Given the description of an element on the screen output the (x, y) to click on. 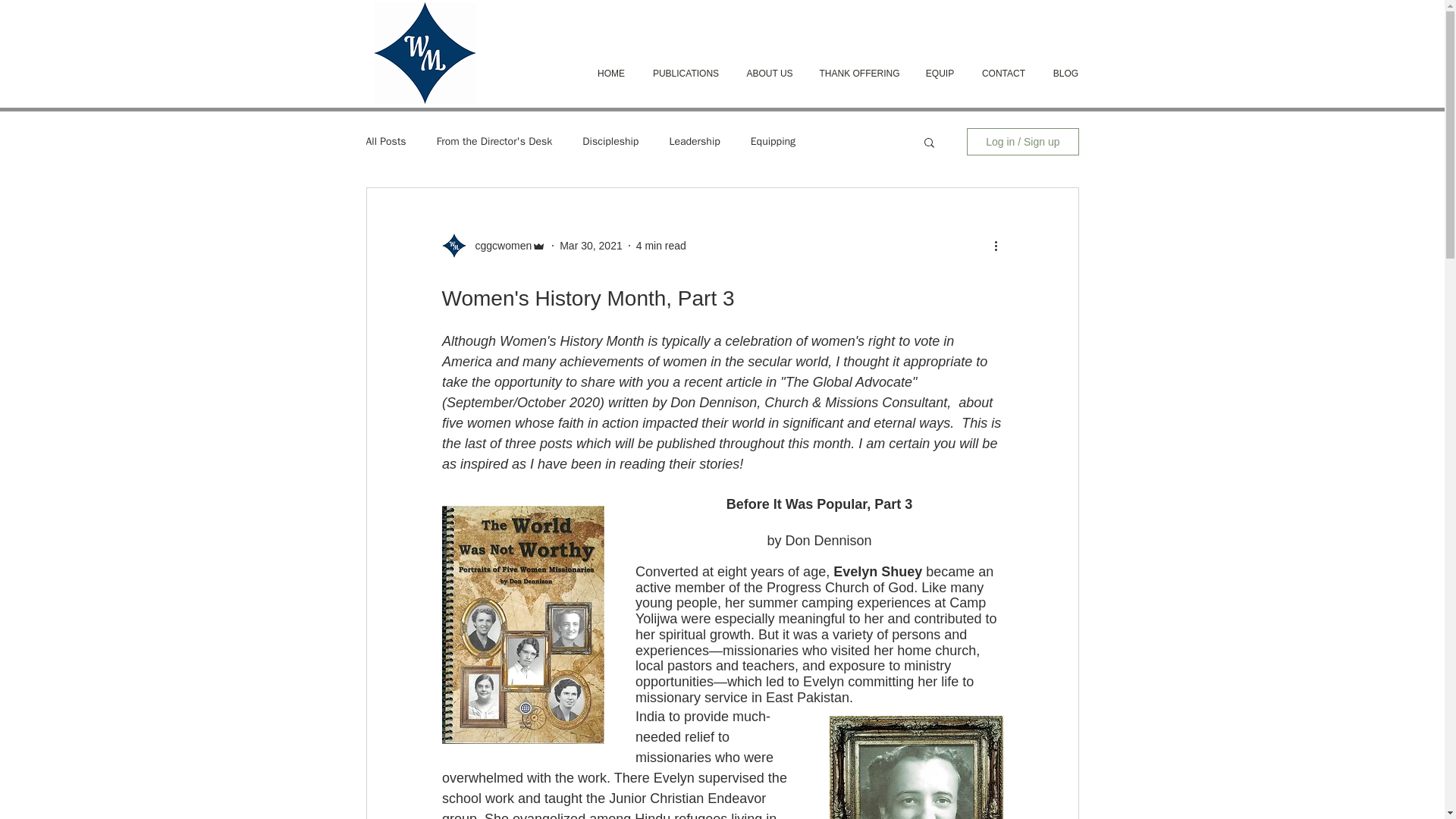
All Posts (385, 141)
EQUIP (939, 73)
Discipleship (610, 141)
PUBLICATIONS (686, 73)
Equipping (772, 141)
BLOG (1065, 73)
cggcwomen (498, 245)
ABOUT US (770, 73)
THANK OFFERING (858, 73)
HOME (610, 73)
